Given the description of an element on the screen output the (x, y) to click on. 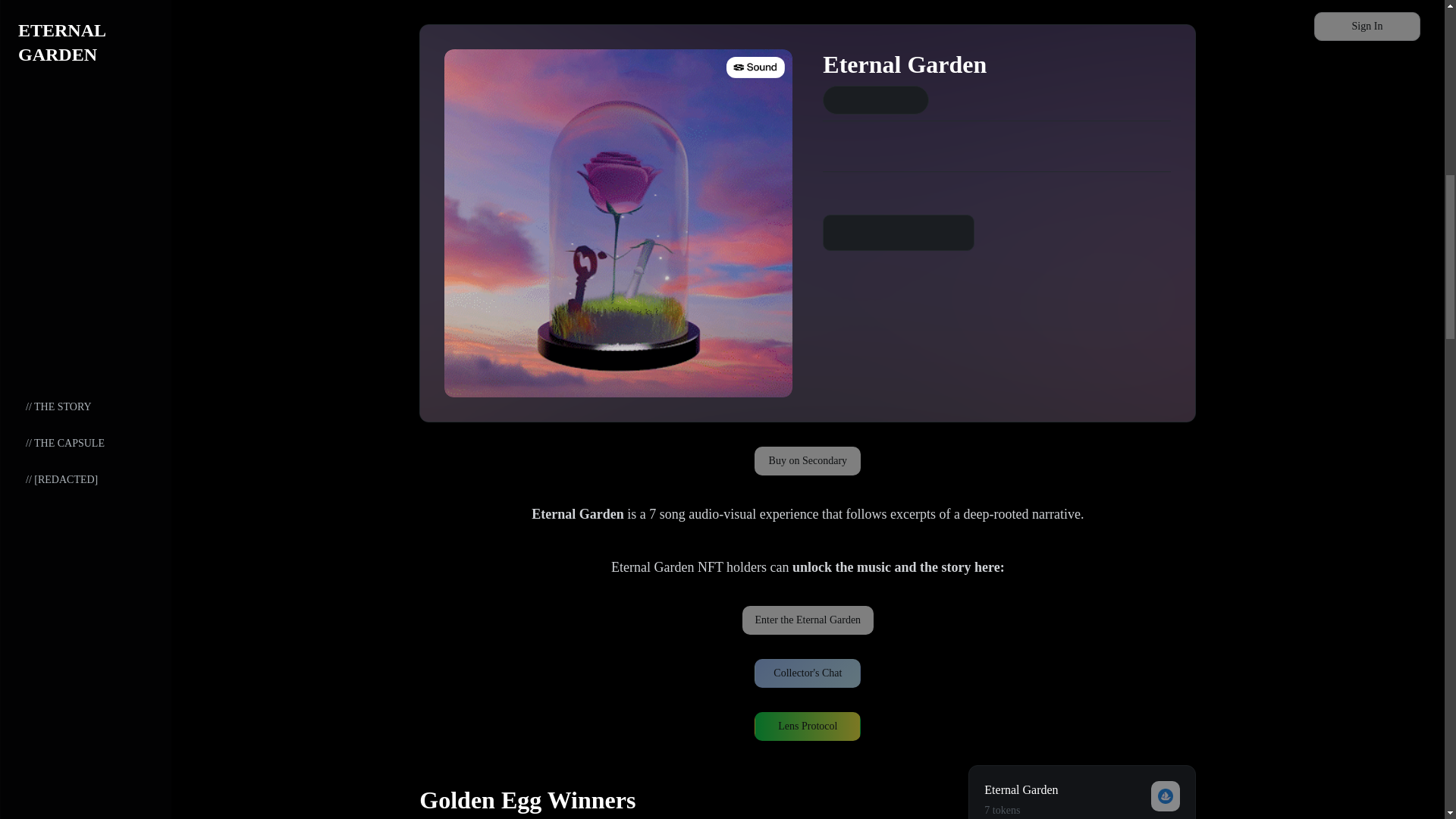
Collector's Chat (807, 673)
Enter the Eternal Garden (808, 620)
Lens Protocol (807, 725)
Lens Protocol (807, 726)
Enter the Eternal Garden (808, 618)
Collector's Chat (807, 671)
Buy on Secondary (807, 459)
Buy on Secondary (807, 460)
